Given the description of an element on the screen output the (x, y) to click on. 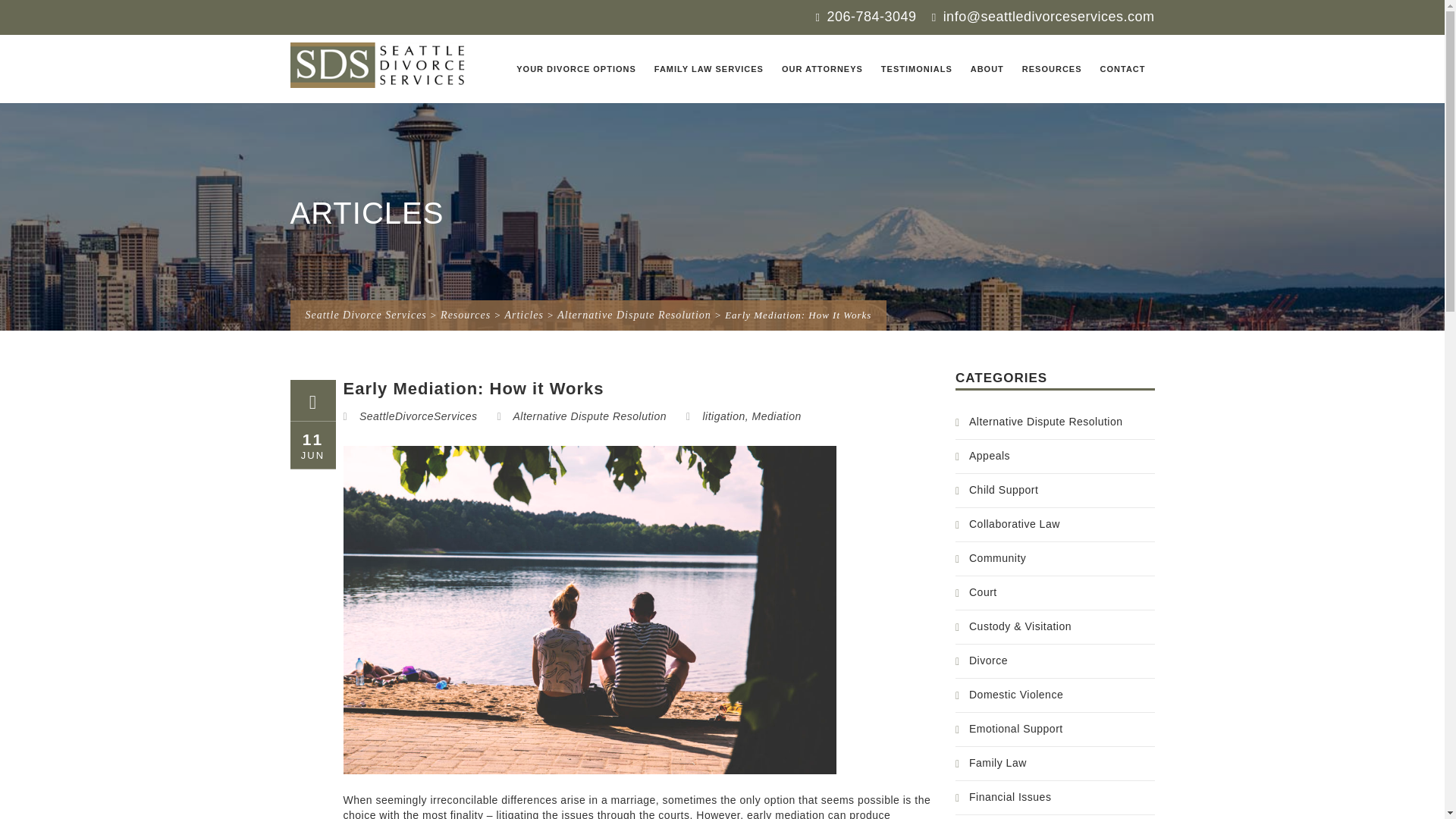
OUR ATTORNEYS (822, 69)
FAMILY LAW SERVICES (707, 69)
Seattle Divorce Services (378, 65)
206-784-3049 (866, 16)
View all posts by SeattleDivorceServices (418, 416)
YOUR DIVORCE OPTIONS (576, 69)
TESTIMONIALS (916, 69)
